Given the description of an element on the screen output the (x, y) to click on. 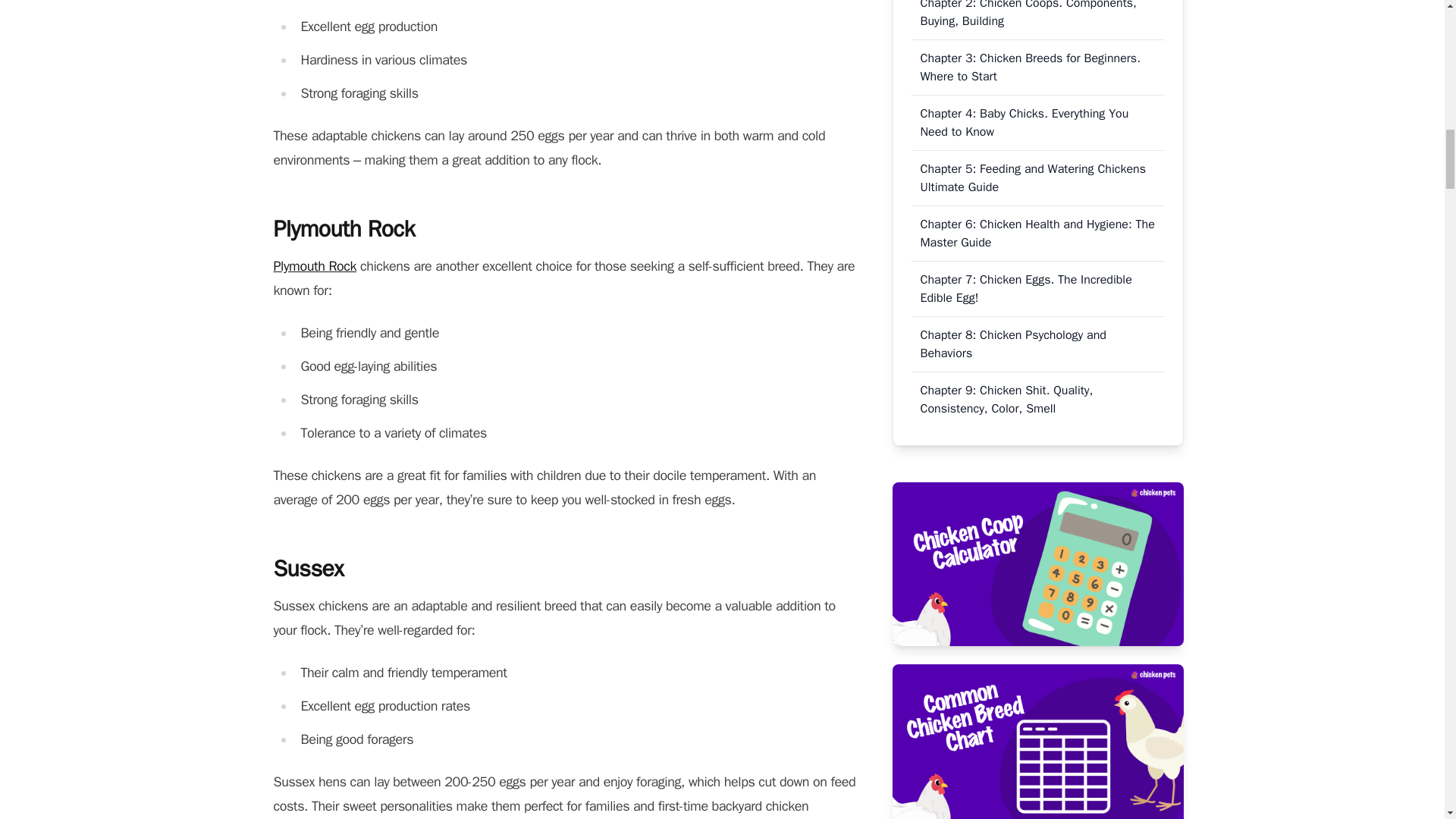
Plymouth Rock (314, 265)
Plymouth Rock (314, 265)
